Given the description of an element on the screen output the (x, y) to click on. 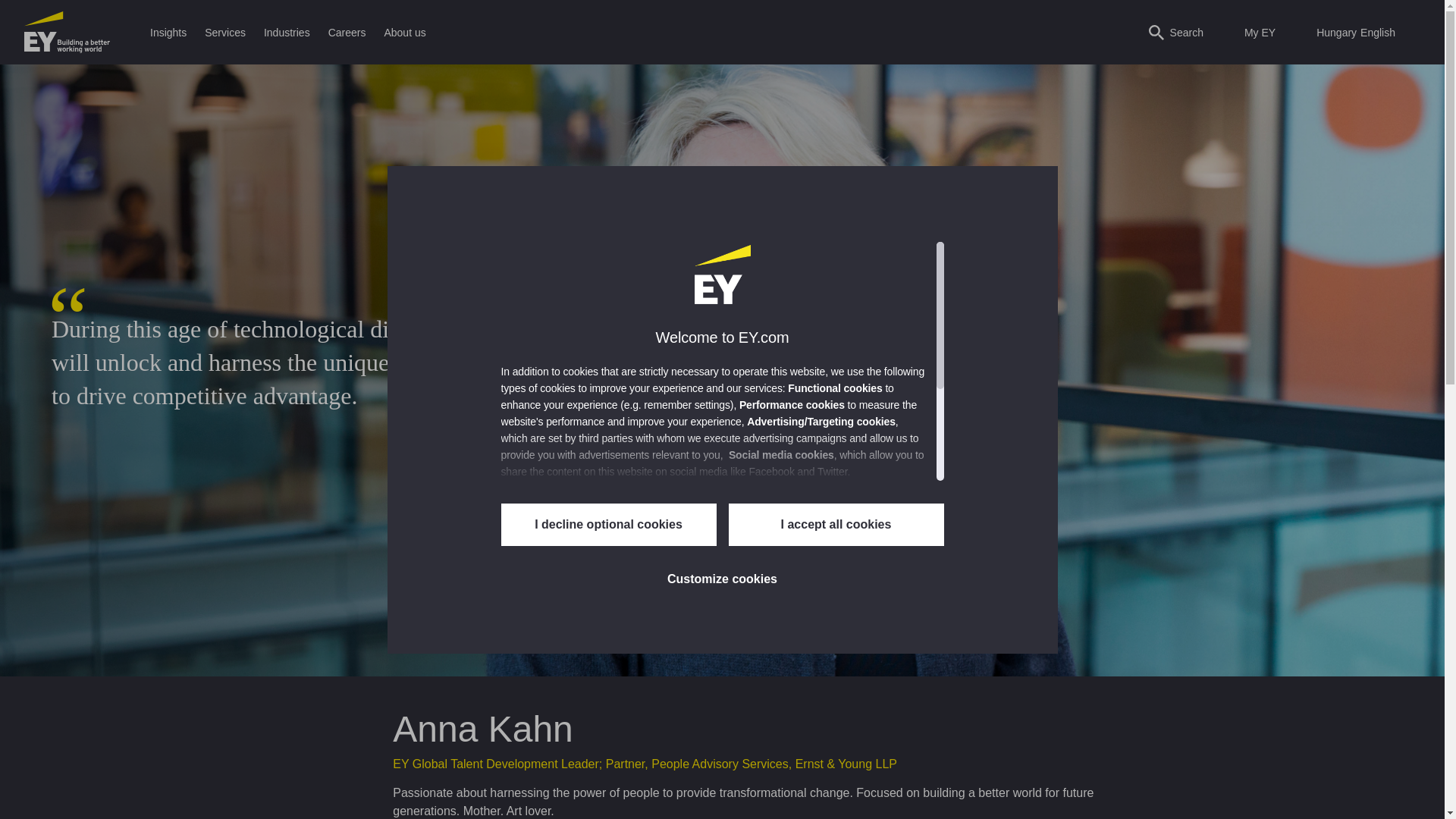
EY Homepage (67, 32)
Open search (1175, 32)
My EY (1249, 32)
Open country language switcher (1352, 32)
